Given the description of an element on the screen output the (x, y) to click on. 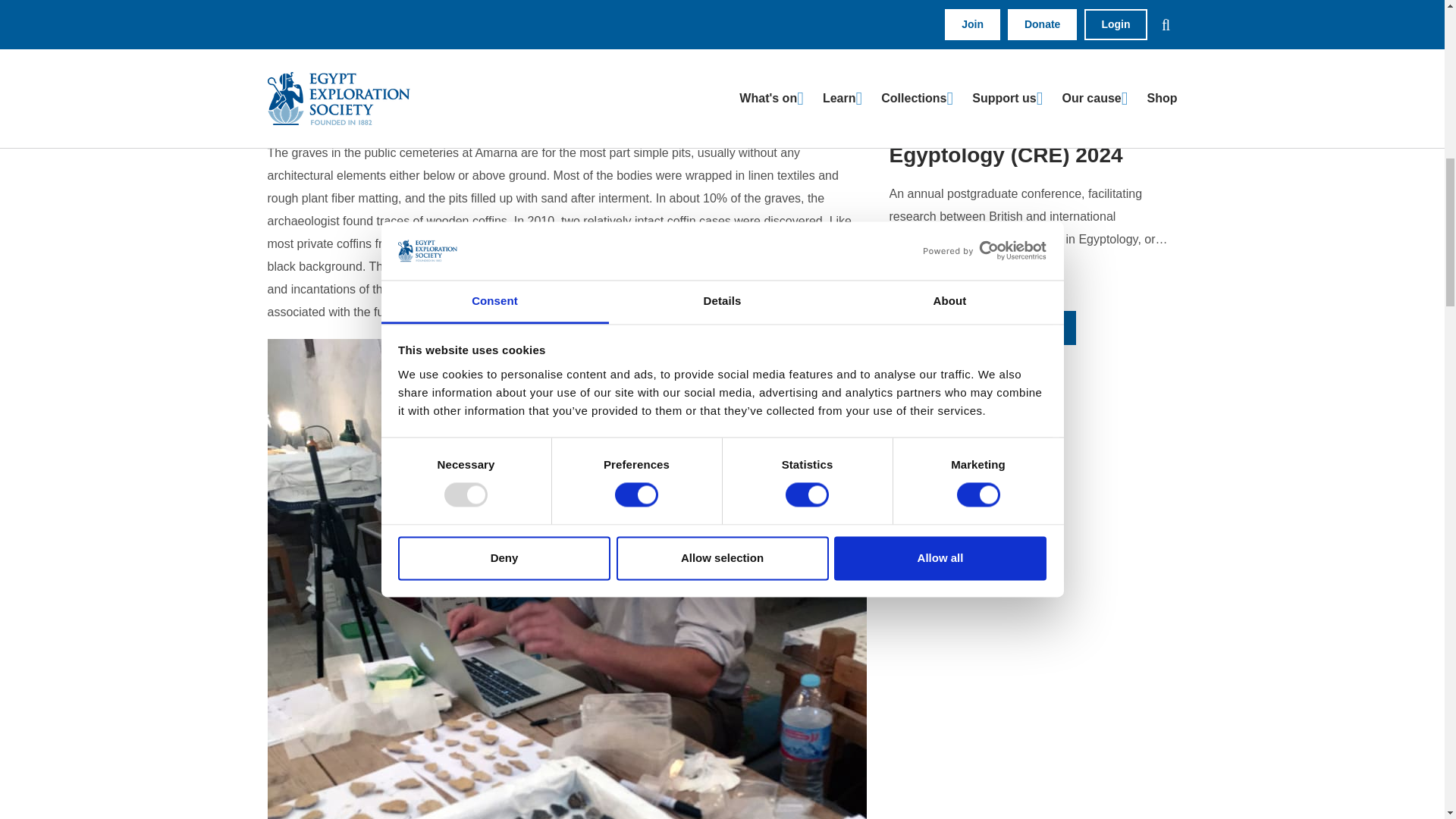
twitter (917, 483)
facebook (925, 418)
linkedin (923, 451)
